Given the description of an element on the screen output the (x, y) to click on. 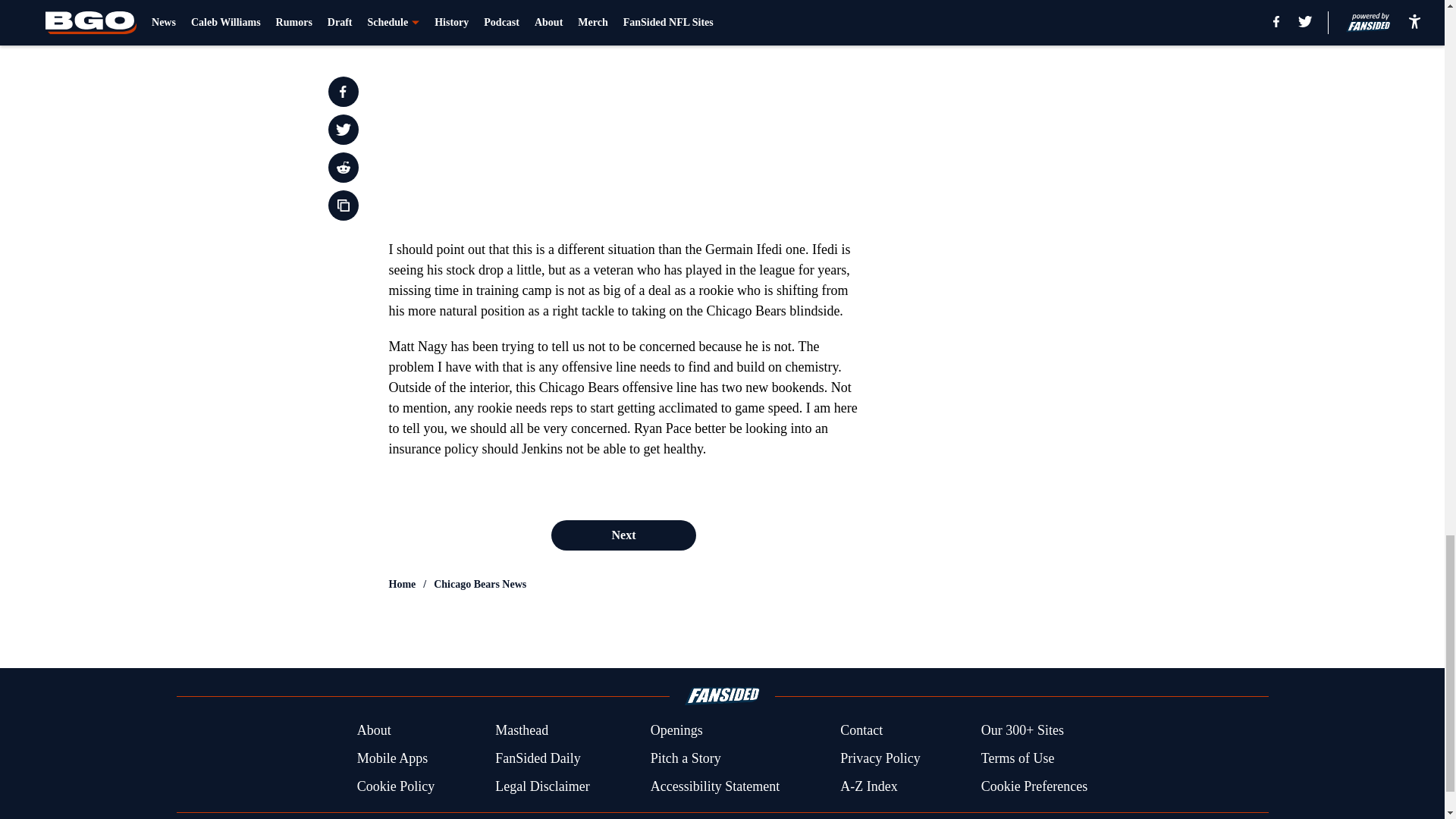
Next (622, 535)
Openings (676, 730)
Pitch a Story (685, 758)
Contact (861, 730)
Chicago Bears News (479, 584)
About (373, 730)
FanSided Daily (537, 758)
Home (401, 584)
Mobile Apps (392, 758)
Masthead (521, 730)
